Given the description of an element on the screen output the (x, y) to click on. 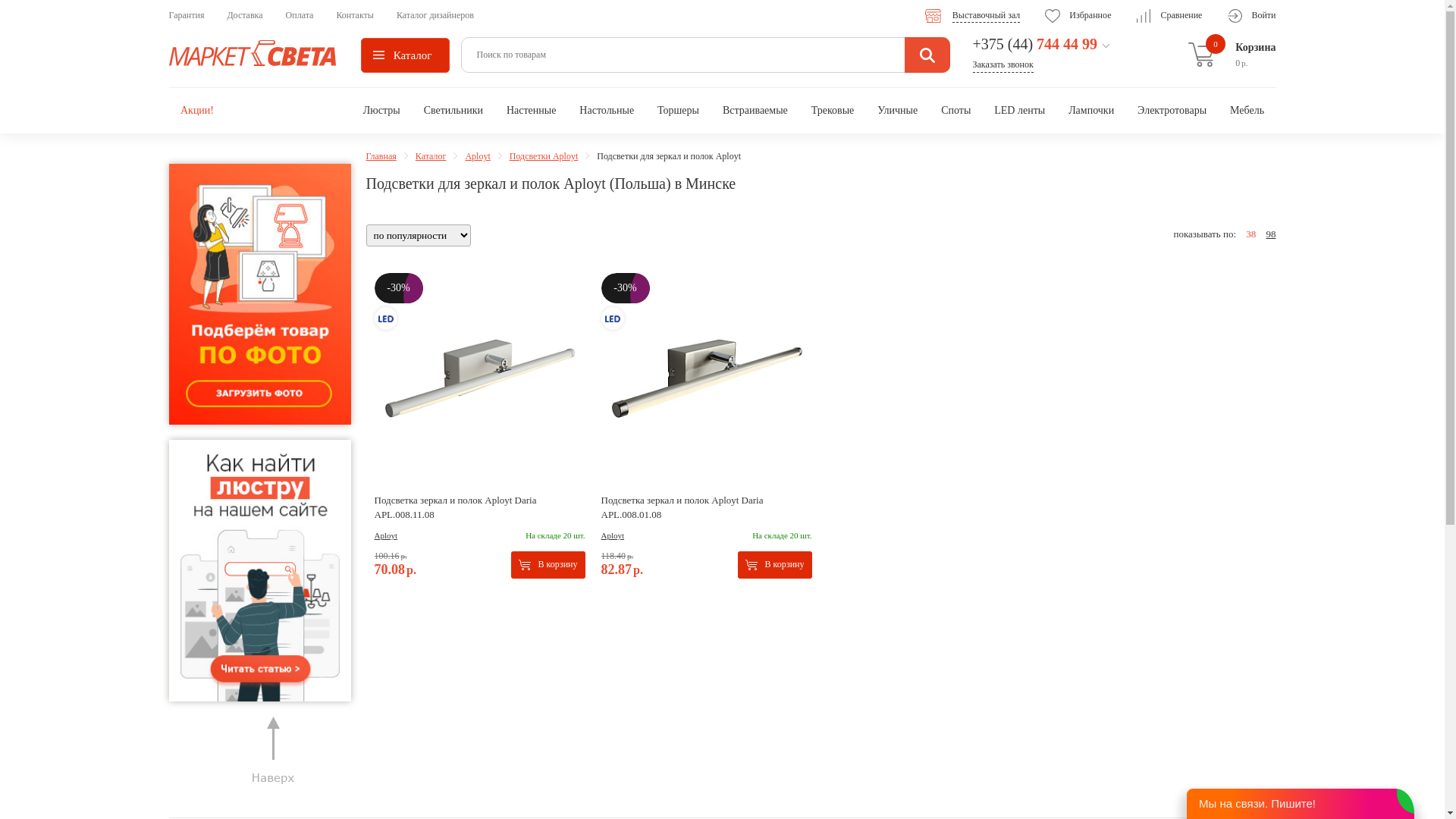
  Element type: hover (259, 293)
38 Element type: text (1250, 233)
Aployt Element type: text (386, 535)
  Element type: hover (259, 569)
98 Element type: text (1271, 233)
+375 (44) 744 44 99 Element type: text (1034, 43)
Aployt Element type: text (612, 535)
Aployt Element type: text (476, 155)
